Given the description of an element on the screen output the (x, y) to click on. 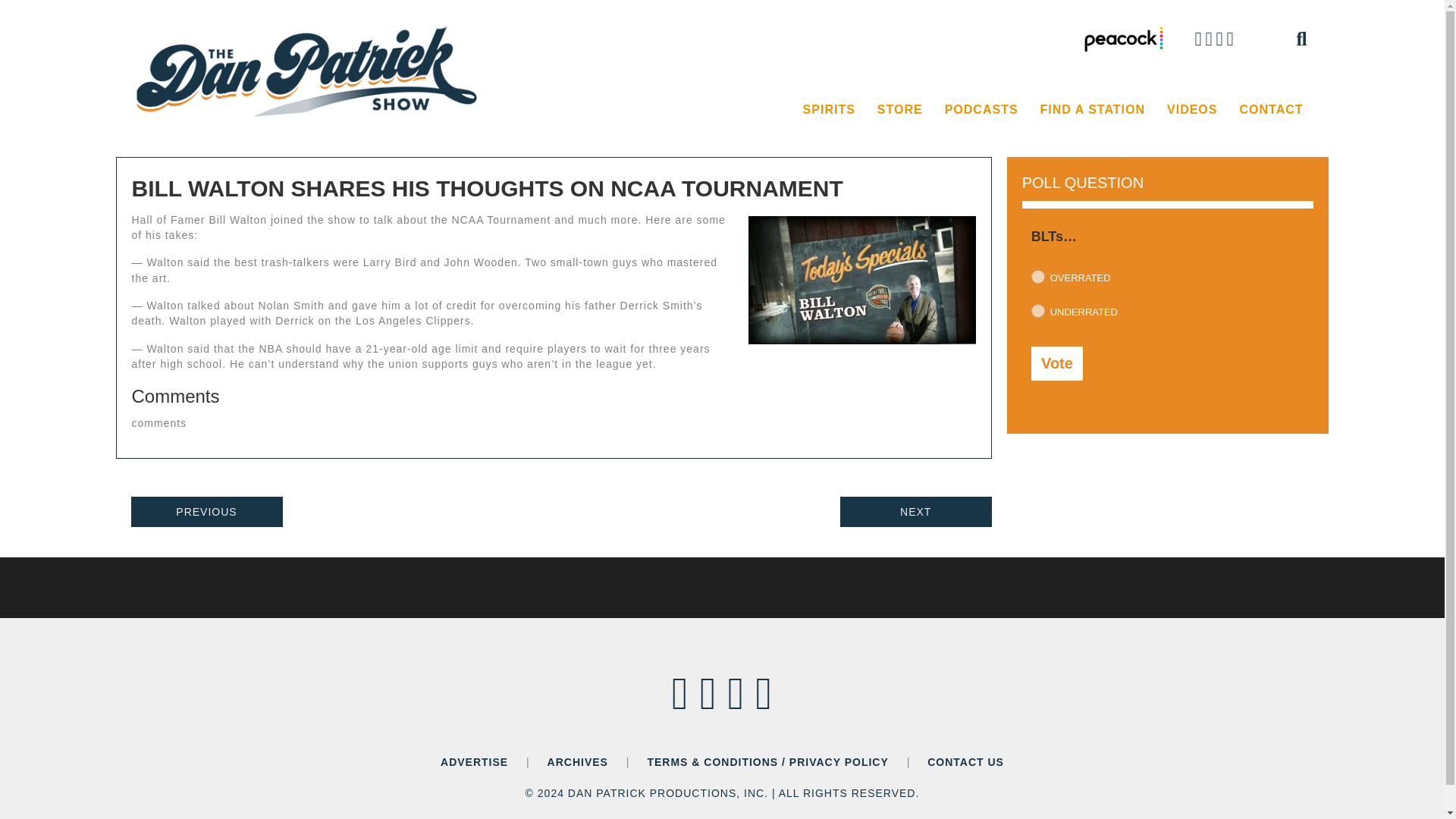
VIDEOS (1191, 109)
ARCHIVES (577, 761)
NEXT (915, 511)
logo (309, 70)
Bill Walton (861, 279)
CONTACT US (965, 761)
Vote (1056, 363)
CONTACT (1270, 109)
ADVERTISE (474, 761)
PODCASTS (981, 109)
